Given the description of an element on the screen output the (x, y) to click on. 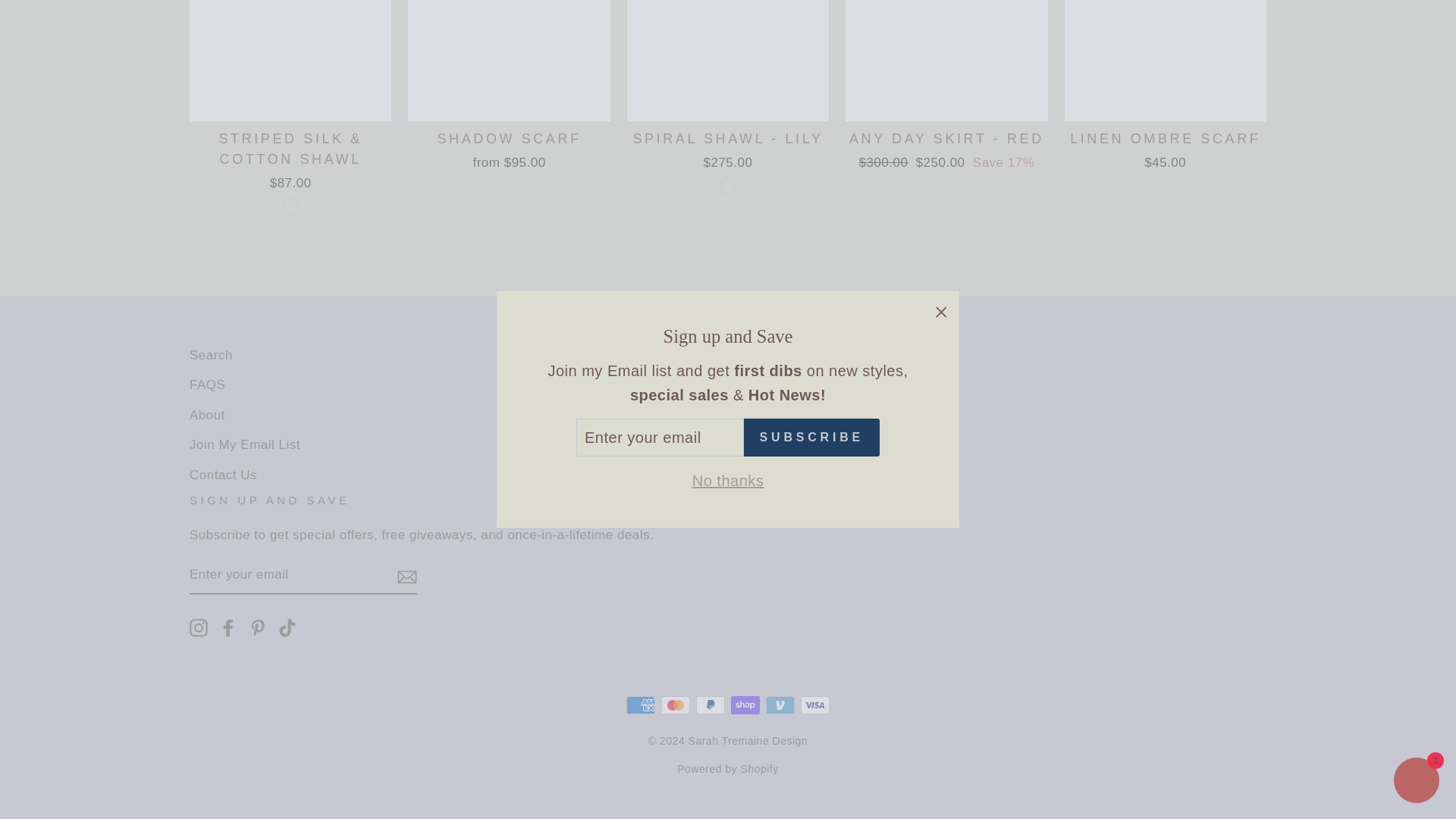
American Express (640, 705)
Venmo (779, 705)
Shop Pay (745, 705)
Visa (814, 705)
Mastercard (675, 705)
PayPal (710, 705)
